Given the description of an element on the screen output the (x, y) to click on. 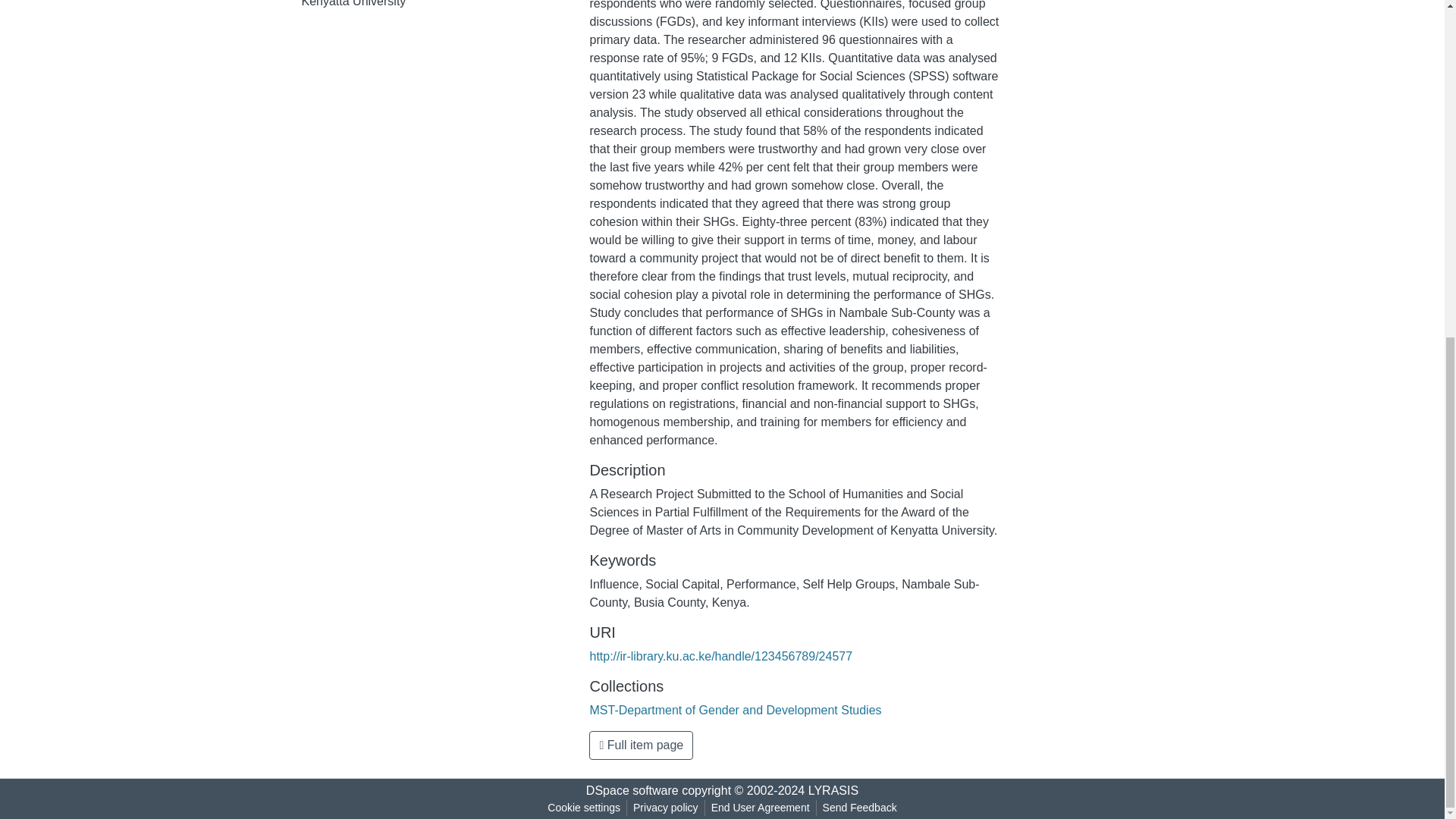
LYRASIS (833, 789)
DSpace software (632, 789)
End User Agreement (759, 807)
Privacy policy (665, 807)
Send Feedback (859, 807)
Full item page (641, 745)
MST-Department of Gender and Development Studies (734, 709)
Cookie settings (583, 807)
